Given the description of an element on the screen output the (x, y) to click on. 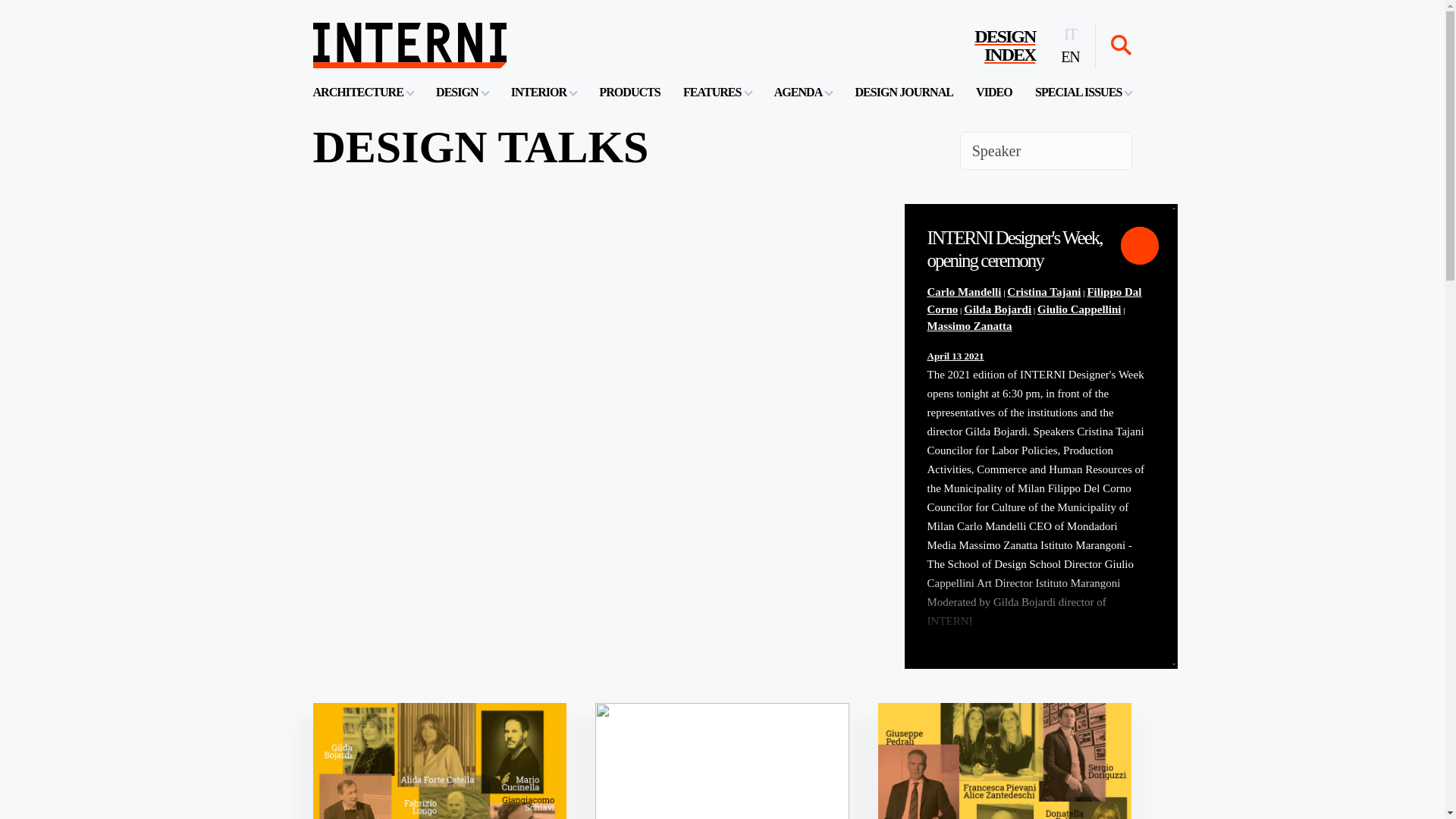
interni magazine (409, 44)
AGENDA (803, 91)
DESIGN JOURNAL (903, 91)
PRODUCTS (629, 91)
DESIGN (461, 91)
ARCHITECTURE (362, 91)
FEATURES (716, 91)
interni magazine (409, 44)
INTERIOR (543, 91)
SPECIAL ISSUES (1083, 91)
VIDEO (1004, 45)
